Given the description of an element on the screen output the (x, y) to click on. 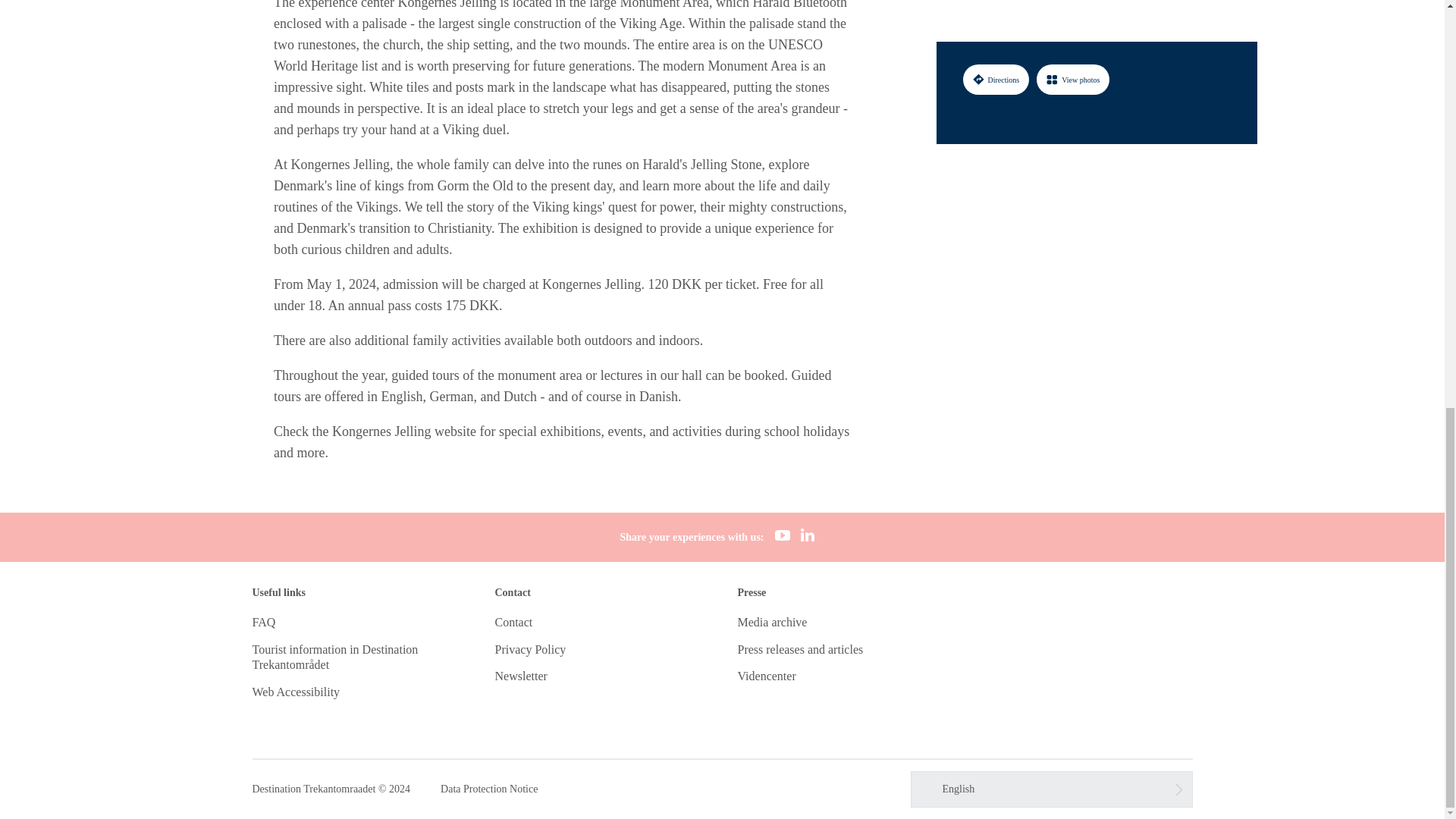
youtube (782, 537)
Press releases and articles (799, 649)
Contact (513, 621)
Privacy Policy (530, 649)
Data Protection Notice (489, 789)
Data Protection Notice (489, 789)
Privacy Policy (530, 649)
Newsletter (521, 675)
Contact (513, 621)
Videncenter (765, 675)
